Given the description of an element on the screen output the (x, y) to click on. 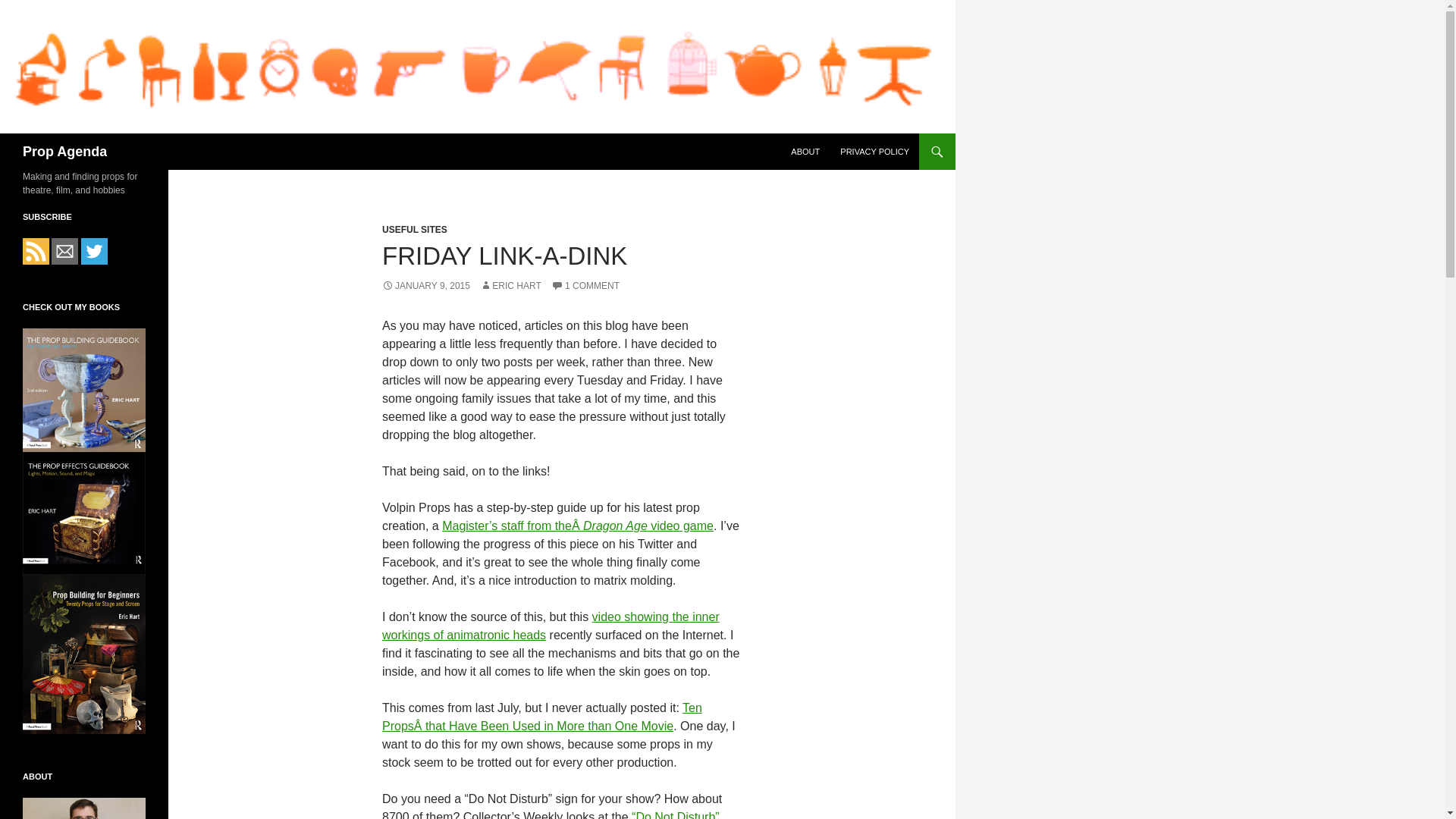
Prop Agenda (64, 151)
USEFUL SITES (413, 229)
JANUARY 9, 2015 (425, 285)
PRIVACY POLICY (874, 151)
ERIC HART (510, 285)
1 COMMENT (585, 285)
video showing the inner workings of animatronic heads (550, 625)
ABOUT (804, 151)
